Given the description of an element on the screen output the (x, y) to click on. 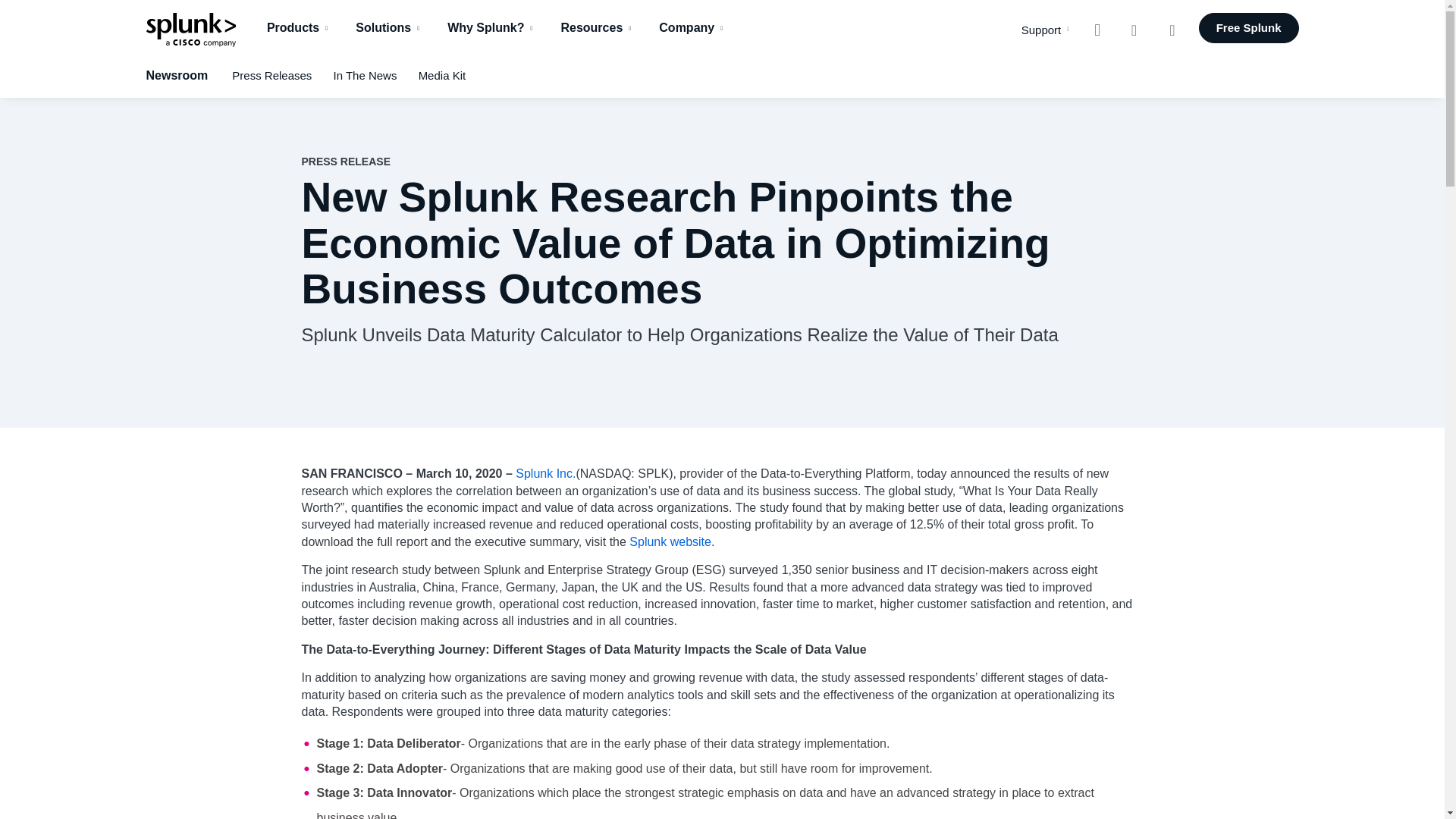
logo (189, 28)
Press Releases In The News Media Kit (783, 75)
Products (298, 27)
